Given the description of an element on the screen output the (x, y) to click on. 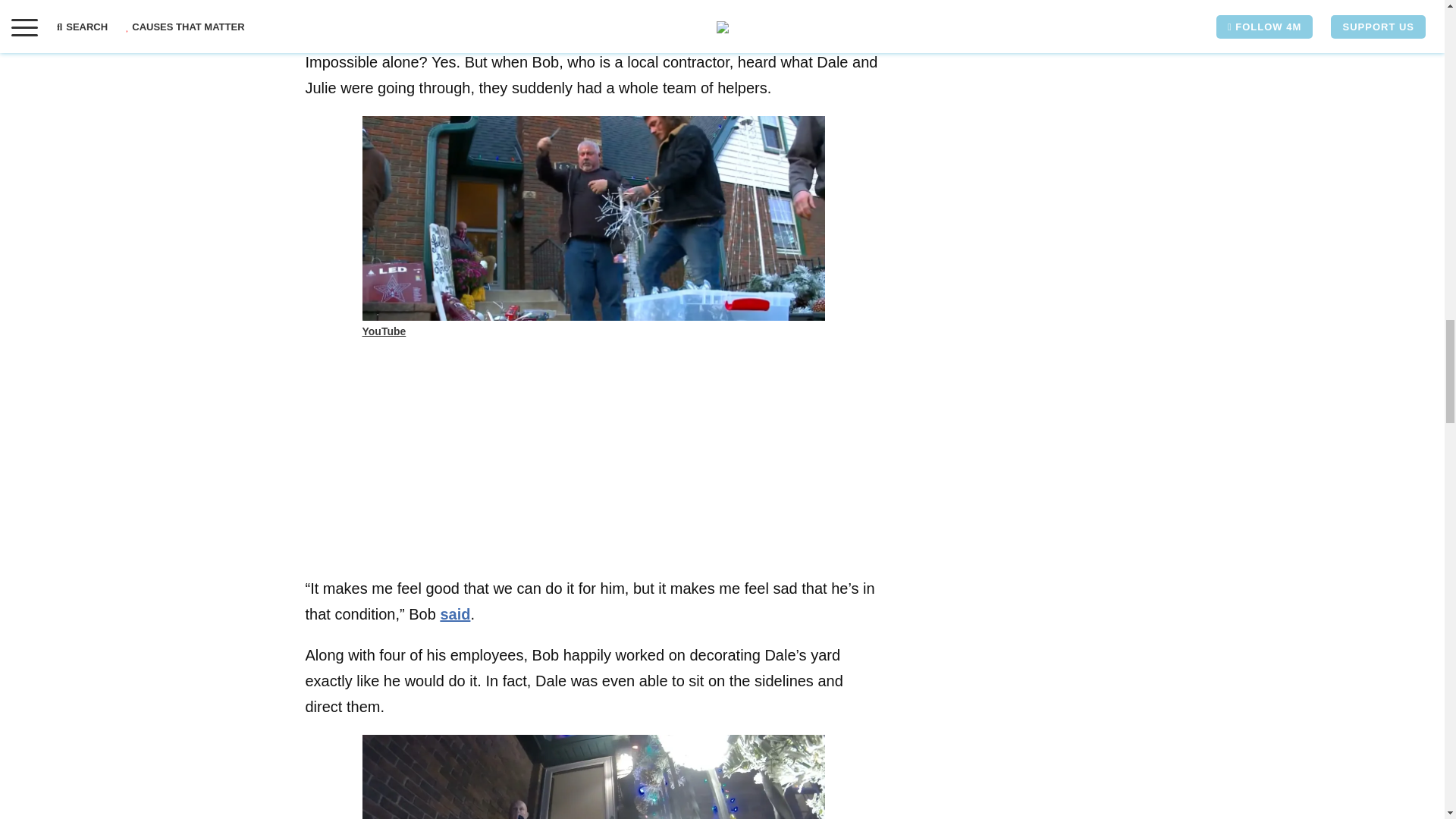
said (726, 2)
YouTube (384, 331)
said (454, 614)
